Given the description of an element on the screen output the (x, y) to click on. 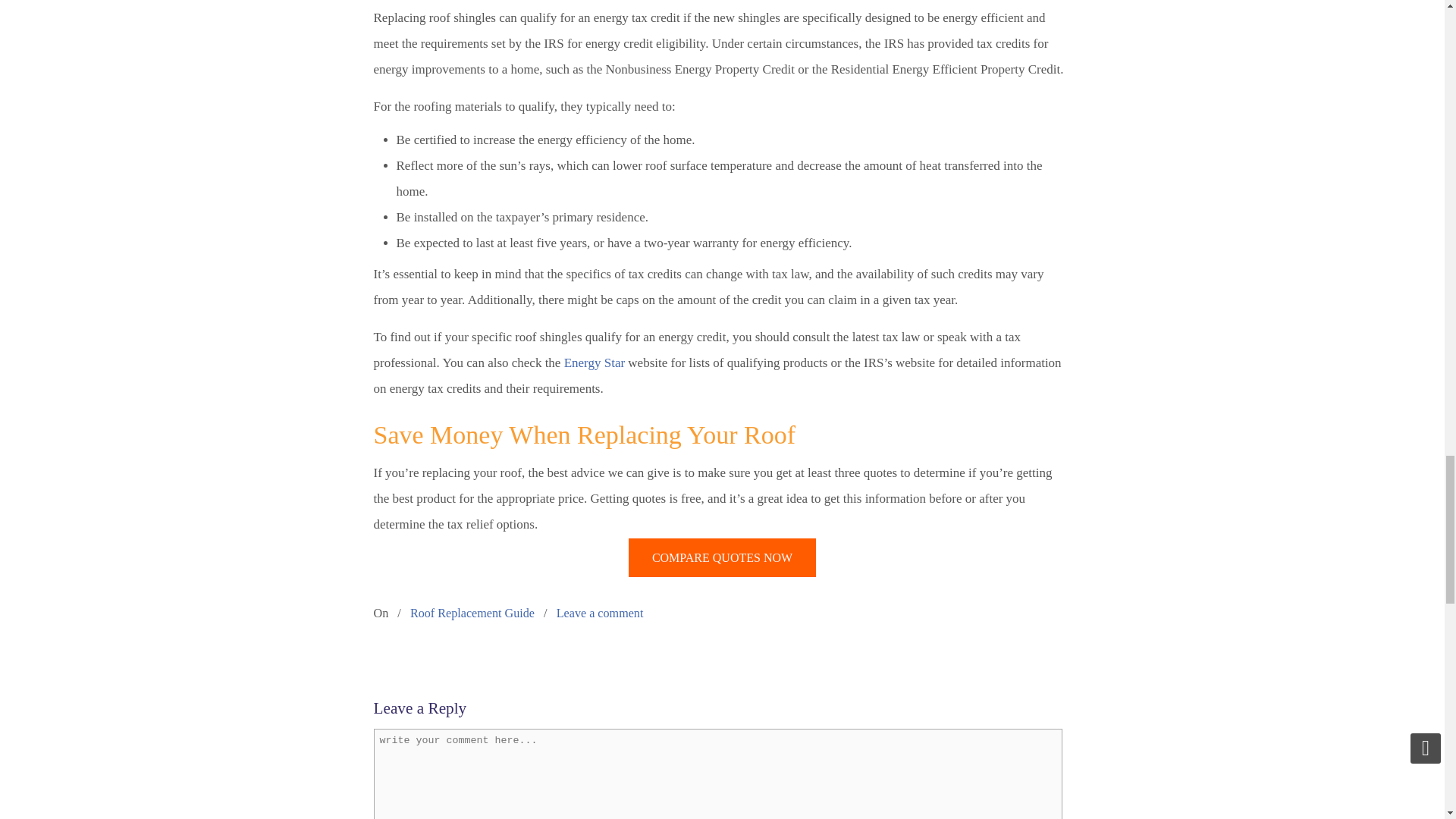
COMPARE QUOTES NOW (721, 557)
Roof Replacement Guide (472, 613)
COMPARE QUOTES NOW (721, 557)
Energy Star (594, 362)
Leave a comment (599, 613)
